Given the description of an element on the screen output the (x, y) to click on. 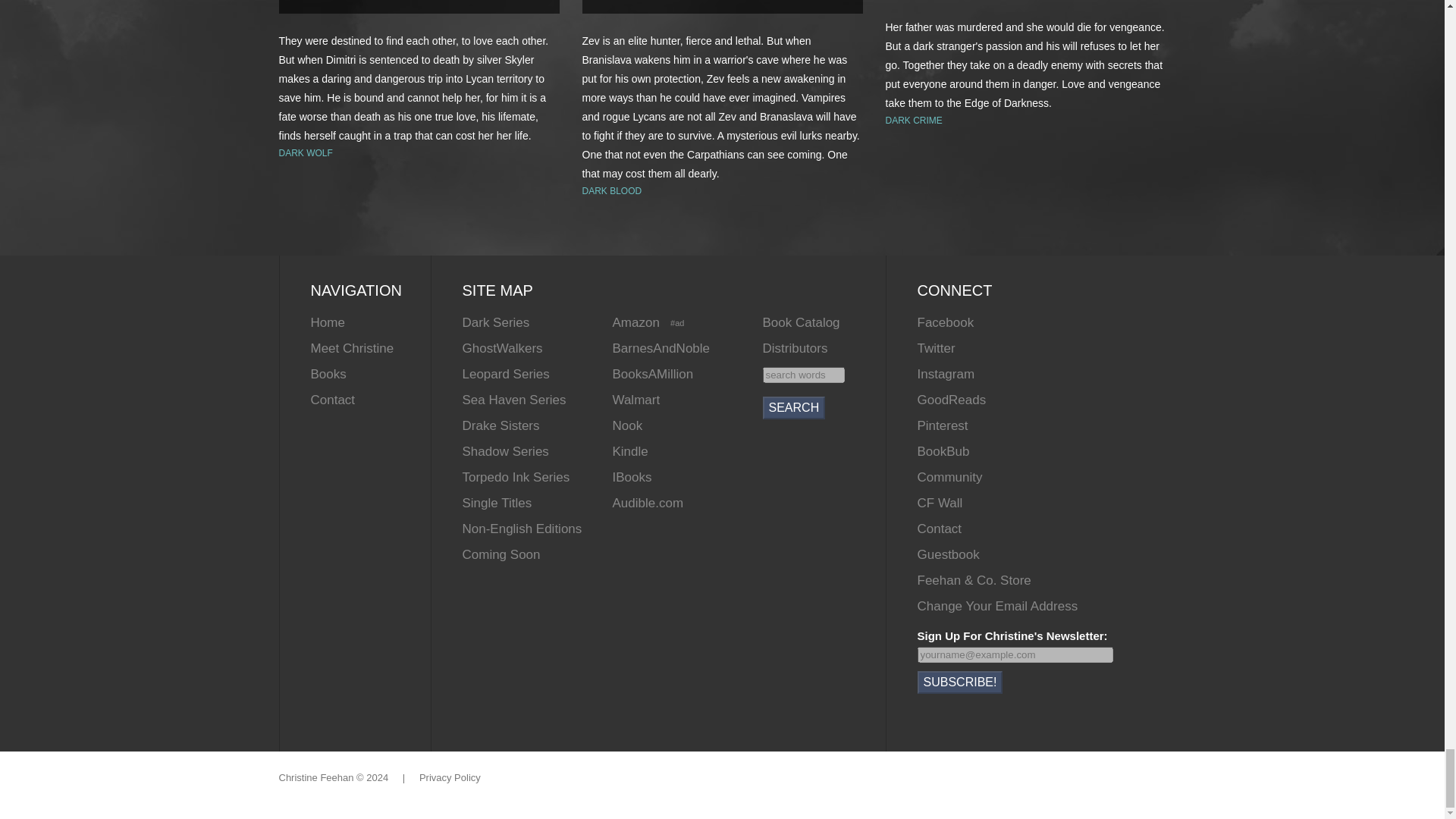
Subscribe! (960, 681)
Search (793, 407)
